Given the description of an element on the screen output the (x, y) to click on. 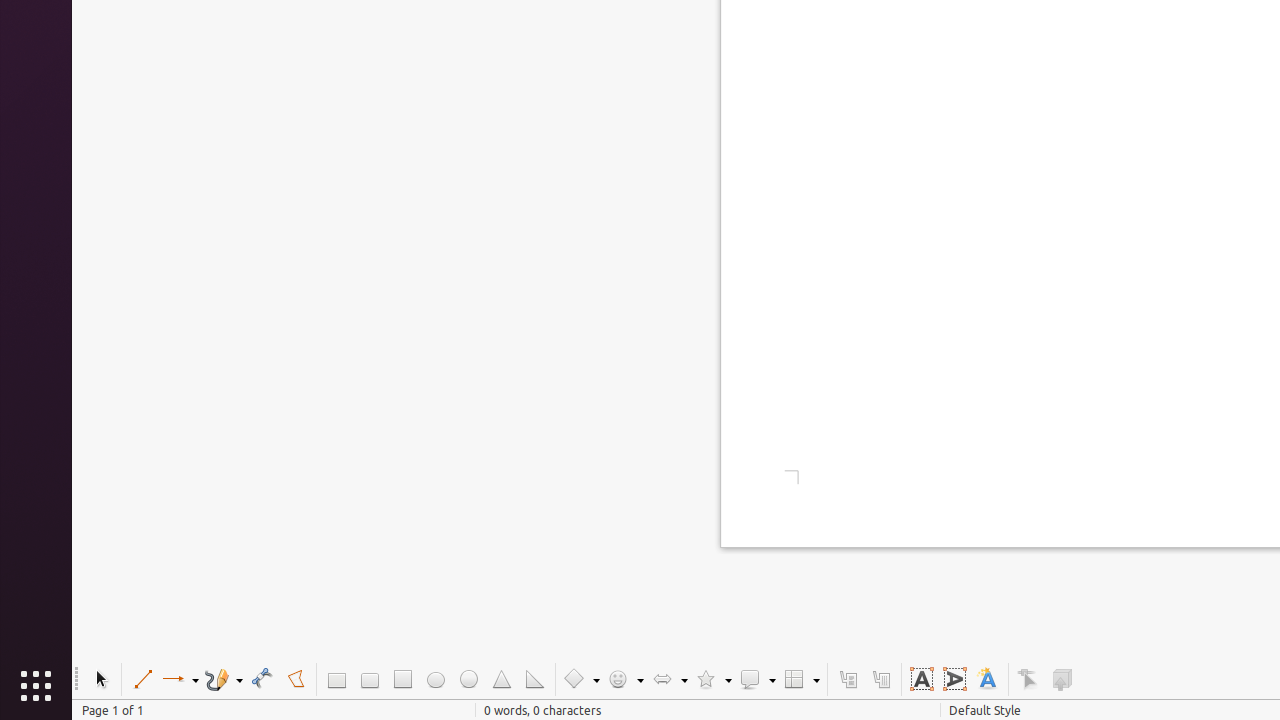
Ellipse Element type: push-button (435, 679)
Flowchart Shapes Element type: push-button (801, 679)
Curve Element type: push-button (262, 679)
Vertical Callouts Element type: toggle-button (880, 679)
Rectangle, Rounded Element type: push-button (369, 679)
